Given the description of an element on the screen output the (x, y) to click on. 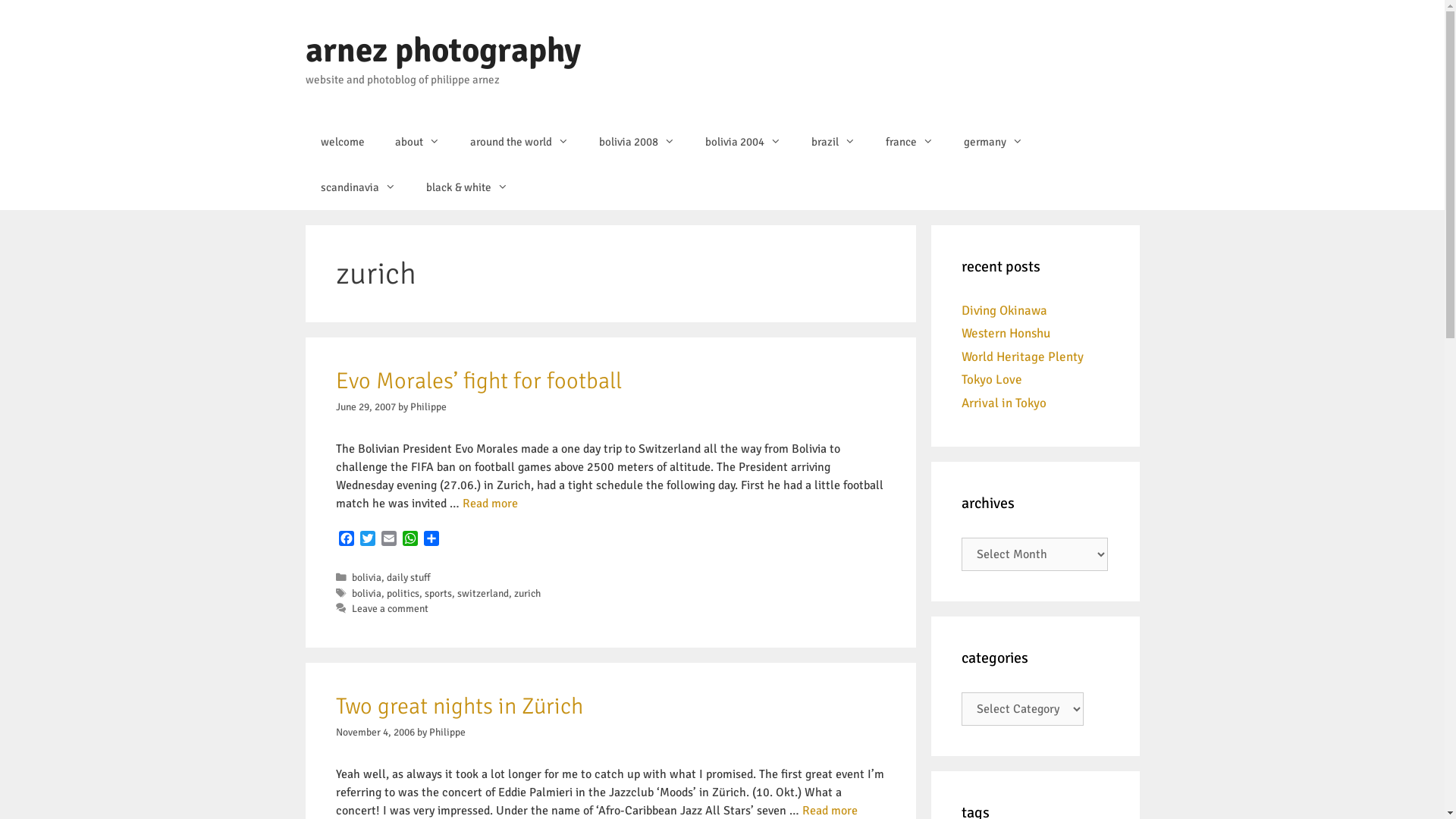
bolivia Element type: text (366, 592)
Email Element type: text (387, 539)
switzerland Element type: text (482, 592)
bolivia 2008 Element type: text (636, 140)
arnez photography Element type: text (442, 50)
bolivia 2004 Element type: text (743, 140)
Tokyo Love Element type: text (991, 379)
around the world Element type: text (519, 140)
World Heritage Plenty Element type: text (1022, 356)
brazil Element type: text (833, 140)
france Element type: text (909, 140)
Read more Element type: text (829, 810)
Facebook Element type: text (345, 539)
WhatsApp Element type: text (409, 539)
scandinavia Element type: text (357, 186)
welcome Element type: text (341, 140)
Leave a comment Element type: text (389, 608)
germany Element type: text (992, 140)
about Element type: text (416, 140)
sports Element type: text (437, 592)
Philippe Element type: text (427, 406)
Twitter Element type: text (366, 539)
zurich Element type: text (527, 592)
Western Honshu Element type: text (1005, 333)
Philippe Element type: text (447, 731)
black & white Element type: text (467, 186)
Read more Element type: text (489, 503)
Arrival in Tokyo Element type: text (1003, 402)
daily stuff Element type: text (408, 577)
Diving Okinawa Element type: text (1004, 309)
politics Element type: text (402, 592)
bolivia Element type: text (366, 577)
Share Element type: text (430, 539)
